Given the description of an element on the screen output the (x, y) to click on. 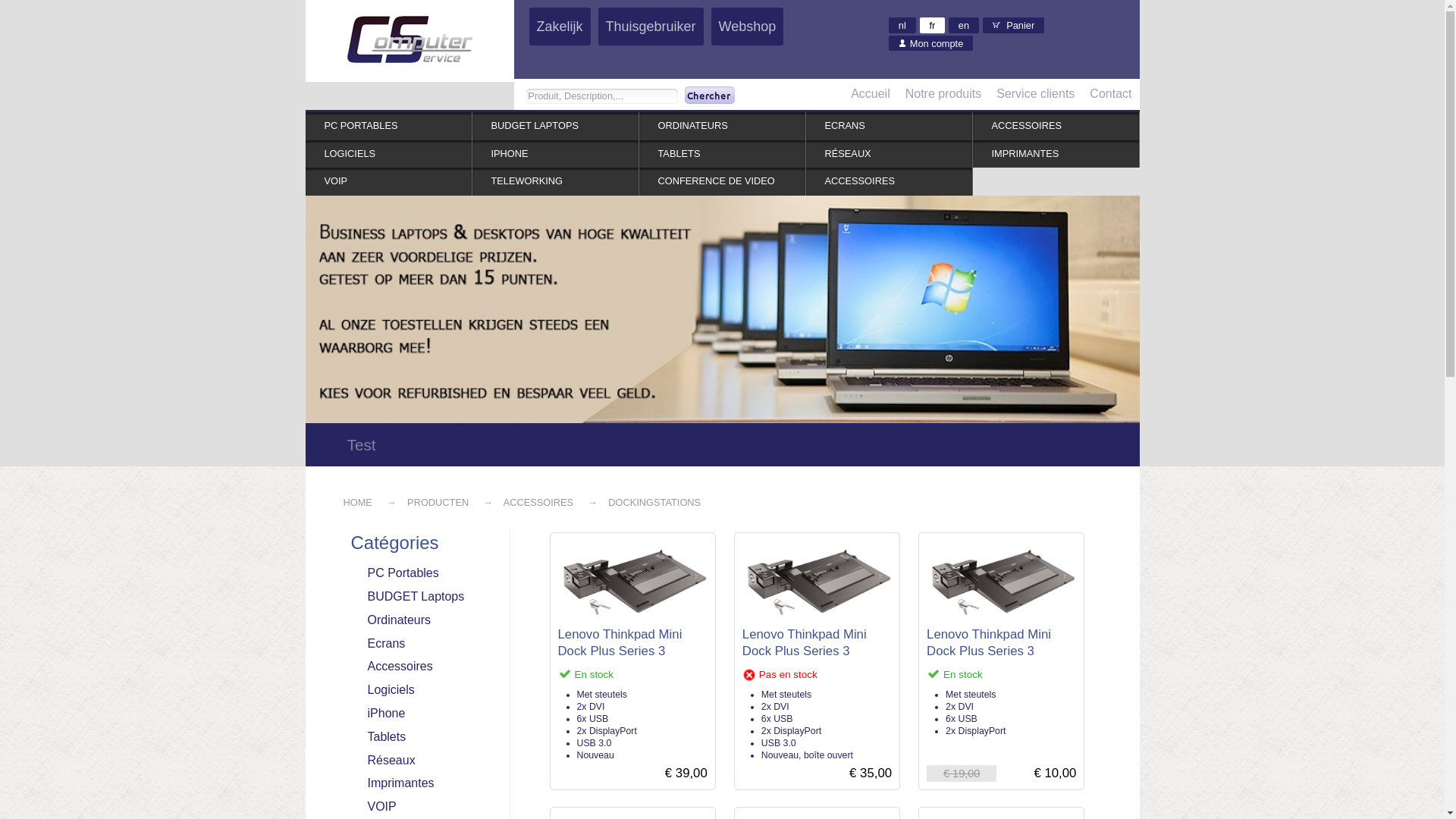
IPHONE Element type: text (554, 154)
Ordinateurs Element type: text (421, 620)
iPhone Element type: text (421, 713)
TABLETS Element type: text (721, 154)
en Element type: text (963, 24)
Logiciels Element type: text (421, 690)
Accessoires Element type: text (421, 666)
HOME Element type: text (356, 502)
ORDINATEURS Element type: text (721, 126)
PC Portables Element type: text (421, 573)
LOGICIELS Element type: text (387, 154)
Notre produits Element type: text (943, 94)
Accueil Element type: text (870, 94)
TELEWORKING Element type: text (554, 181)
Imprimantes Element type: text (421, 783)
Zakelijk Element type: text (559, 26)
CONFERENCE DE VIDEO Element type: text (721, 181)
BUDGET LAPTOPS Element type: text (554, 126)
nl Element type: text (902, 24)
fr Element type: text (931, 24)
ACCESSOIRES Element type: text (887, 181)
 Panier Element type: text (1013, 24)
ECRANS Element type: text (887, 126)
BUDGET Laptops Element type: text (421, 596)
PC PORTABLES Element type: text (387, 126)
IMPRIMANTES Element type: text (1054, 154)
Thuisgebruiker Element type: text (650, 26)
Webshop Element type: text (747, 26)
Service clients Element type: text (1035, 94)
Ecrans Element type: text (421, 643)
ACCESSOIRES Element type: text (1054, 126)
VOIP Element type: text (387, 181)
Contact Element type: text (1110, 94)
Produit, Description,... Element type: text (601, 95)
Tablets Element type: text (421, 737)
Mon compte Element type: text (930, 42)
